Given the description of an element on the screen output the (x, y) to click on. 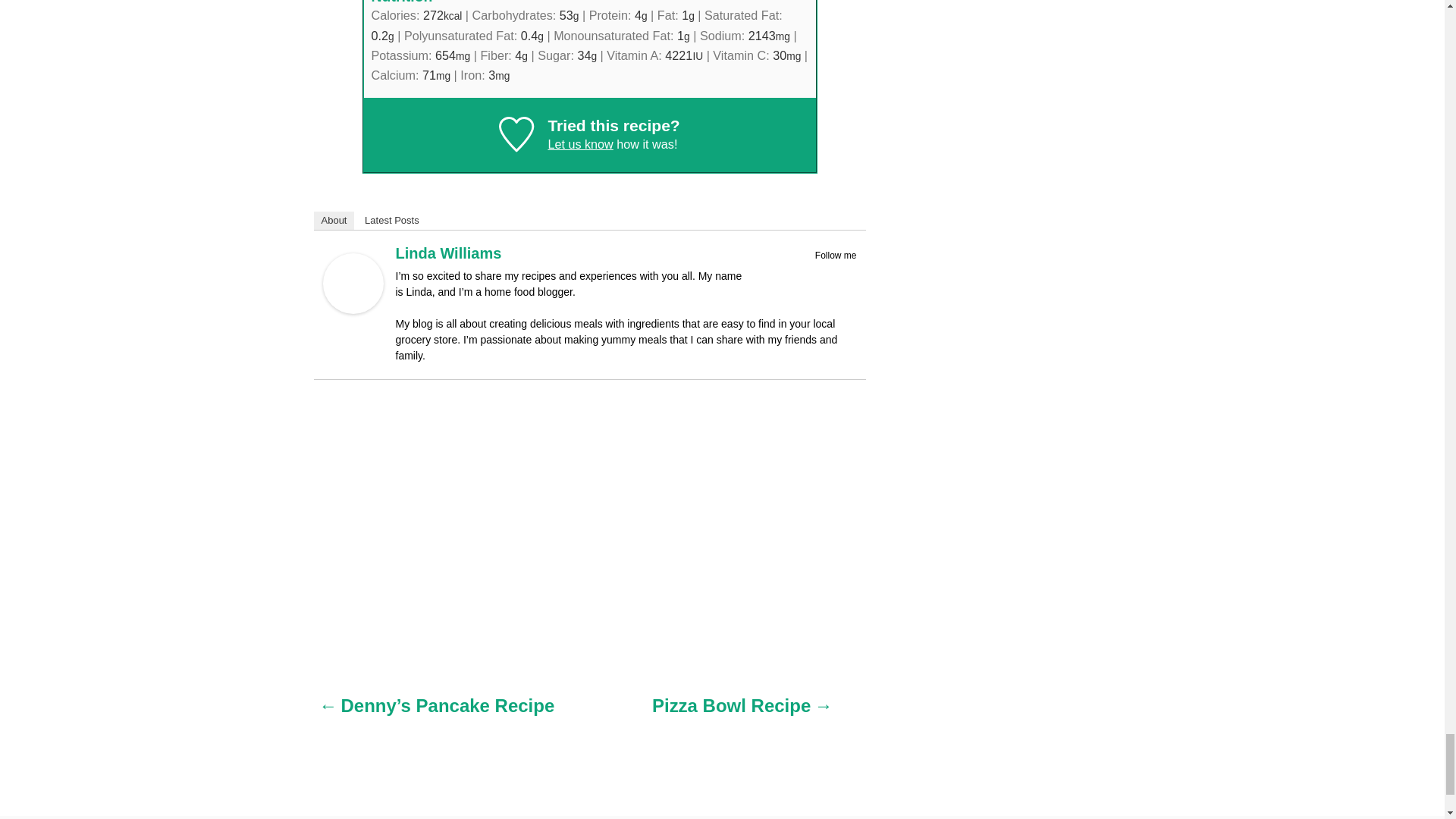
Pinterest (825, 272)
Facebook (806, 272)
Linda Williams (353, 309)
YouTube (846, 272)
